Given the description of an element on the screen output the (x, y) to click on. 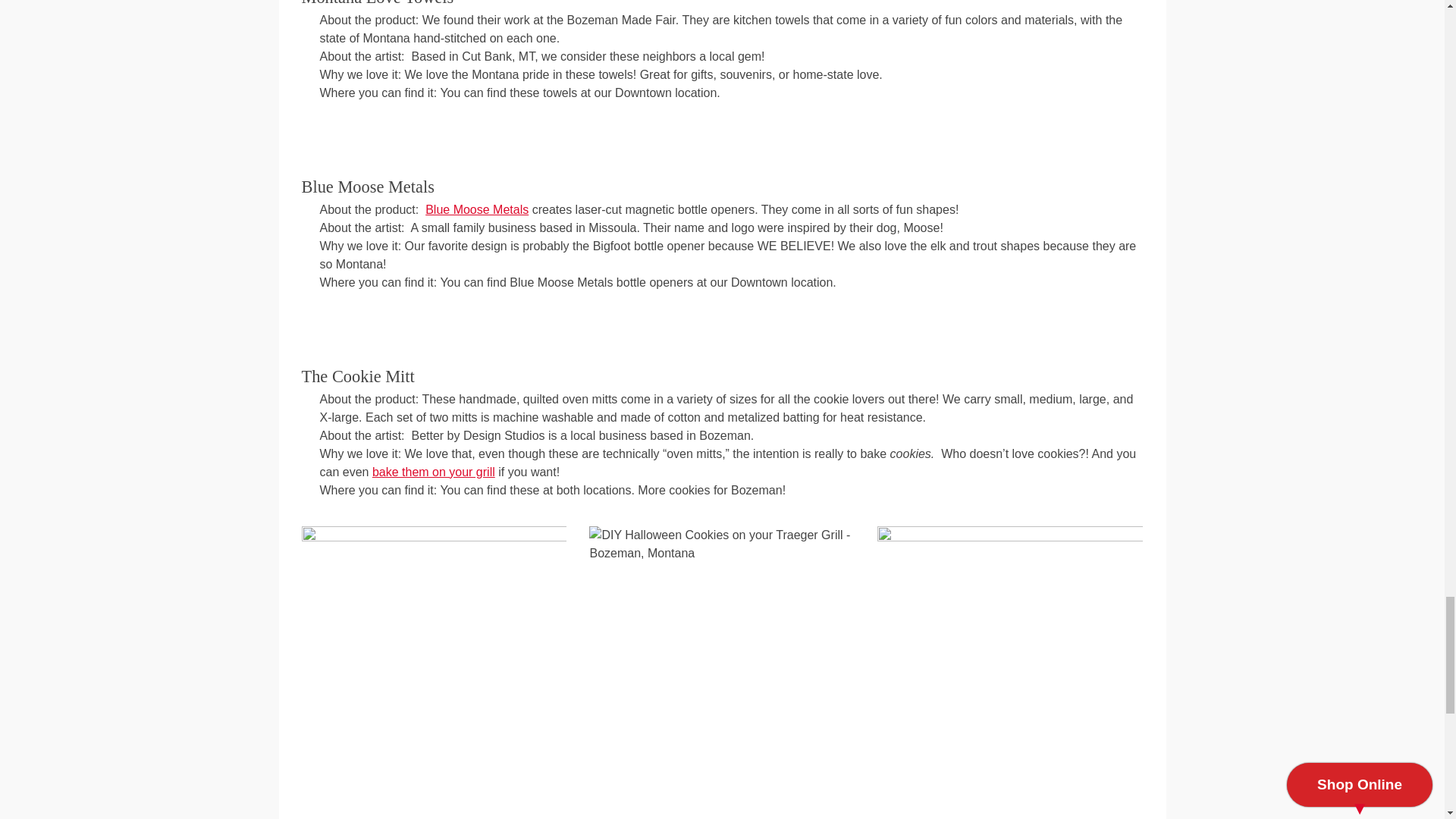
DIY Halloween Cookies on your Traeger Grill (721, 544)
